Given the description of an element on the screen output the (x, y) to click on. 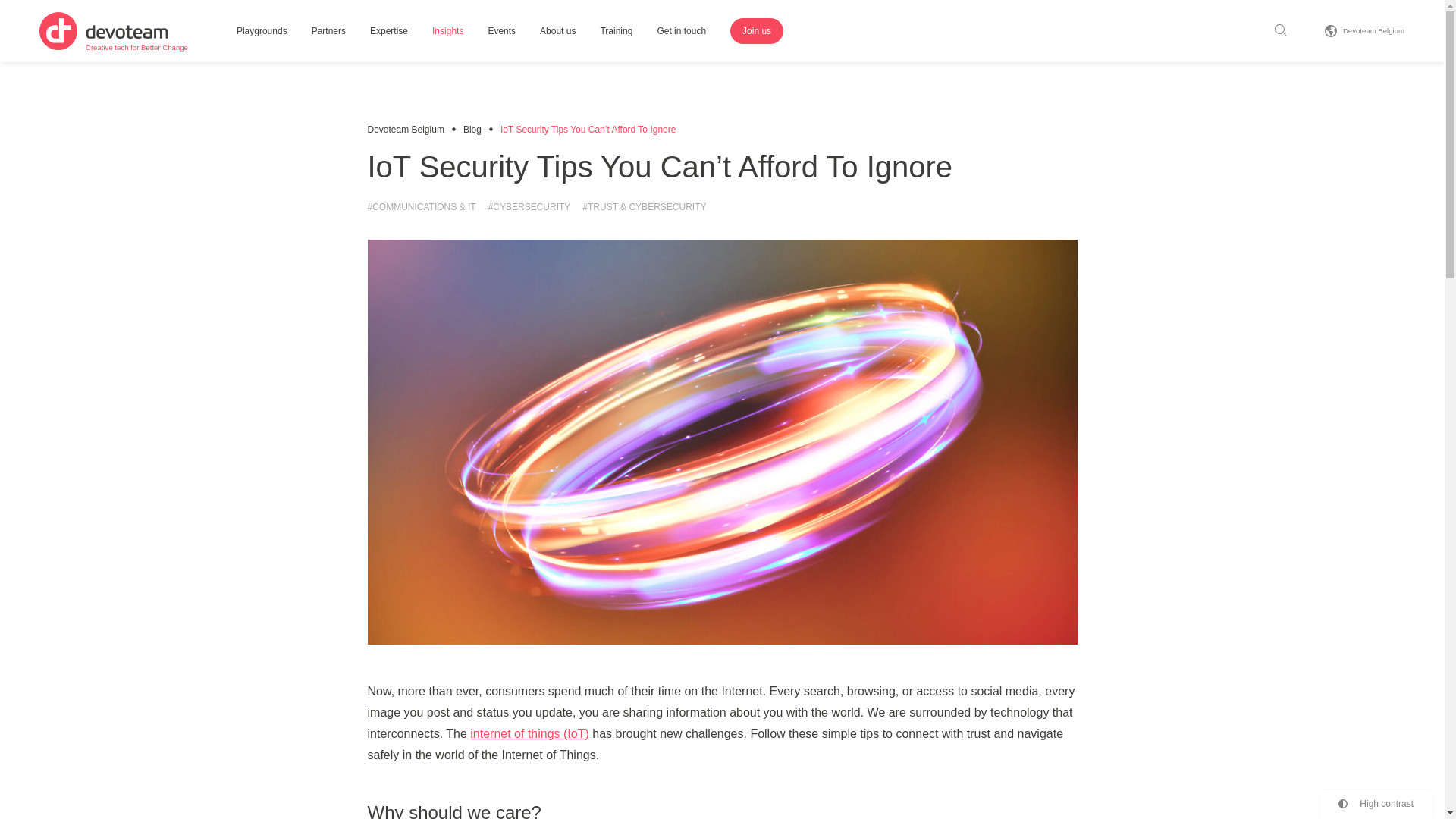
Playgrounds (261, 31)
Go to Devoteam Belgium. (405, 129)
Creative tech for Better Change (113, 30)
Go to Blog. (472, 129)
About us (557, 31)
Expertise (389, 31)
Partners (1364, 30)
